Given the description of an element on the screen output the (x, y) to click on. 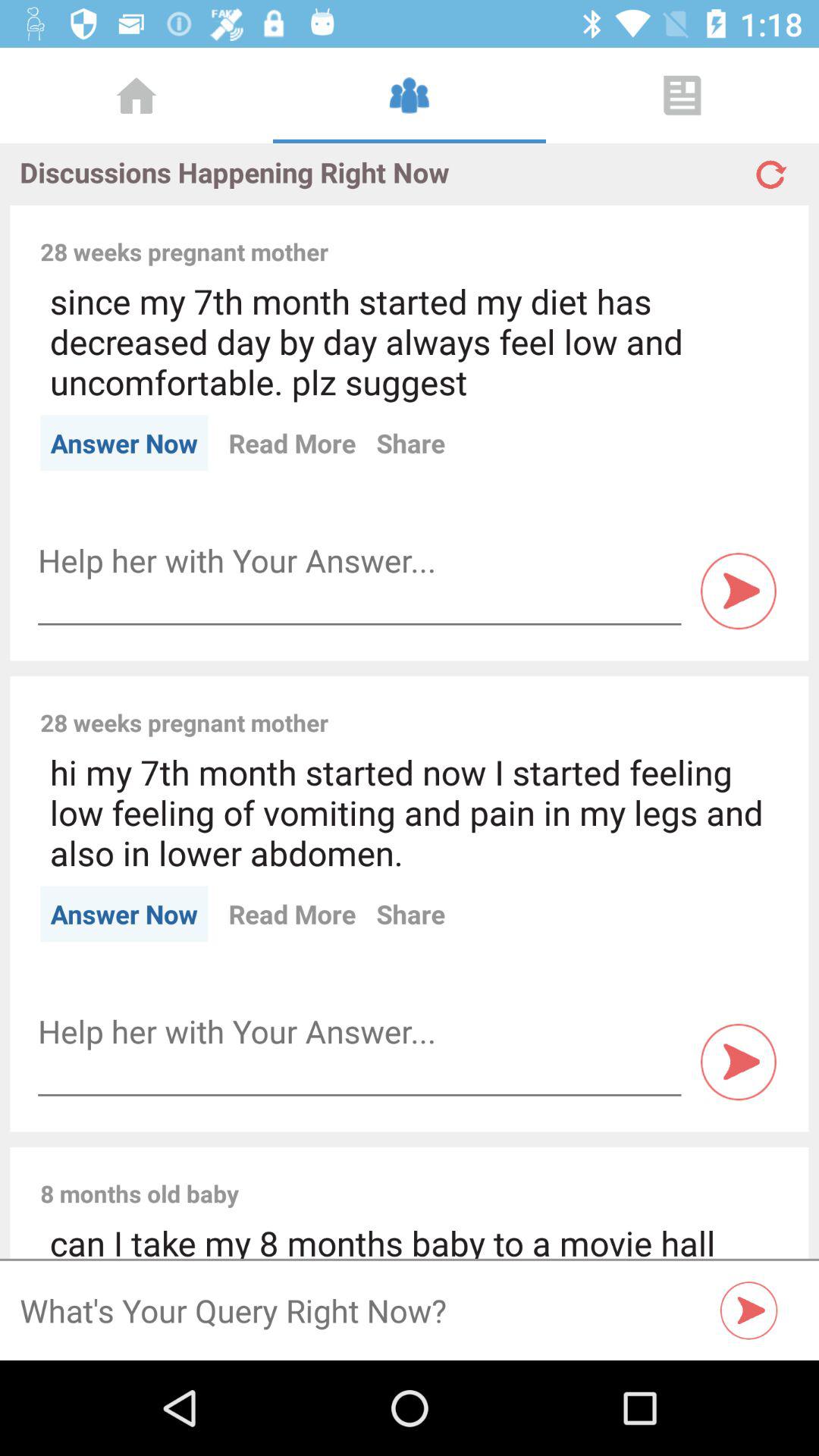
text box plus (359, 560)
